Given the description of an element on the screen output the (x, y) to click on. 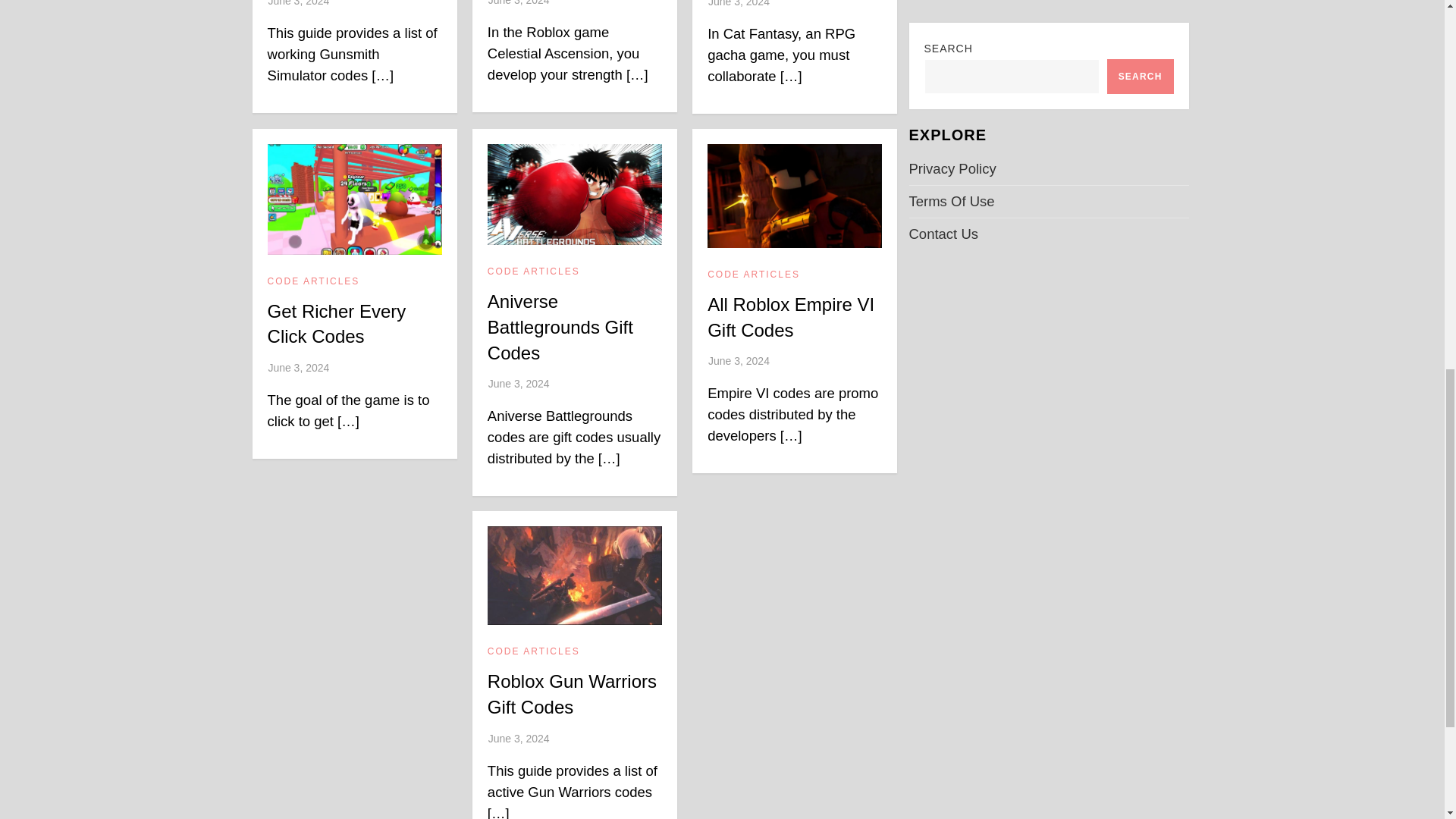
CODE ARTICLES (313, 282)
June 3, 2024 (298, 3)
Aniverse Battlegrounds Gift Codes (560, 326)
Get Richer Every Click Codes (336, 324)
June 3, 2024 (738, 3)
CODE ARTICLES (533, 272)
June 3, 2024 (298, 367)
June 3, 2024 (518, 2)
